Given the description of an element on the screen output the (x, y) to click on. 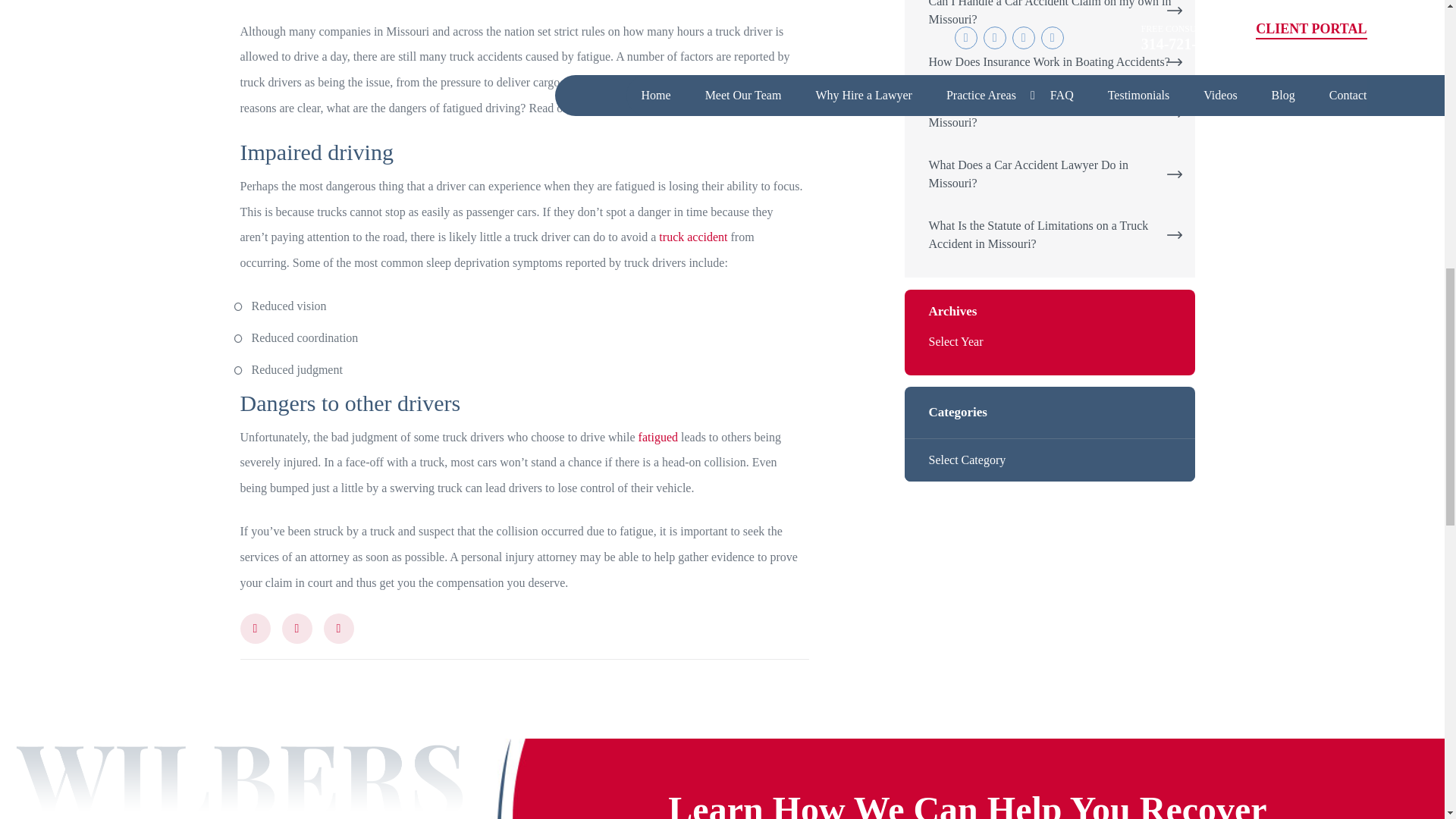
Can I Handle a Car Accident Claim on my own in Missouri? (1049, 14)
The Wilbers Law Firm LLC (307, 0)
truck accident (692, 236)
How Does Insurance Work in Boating Accidents? (1049, 62)
What Does a Car Accident Lawyer Do in Missouri? (1049, 174)
What Happens if Another Boat Hits You in Missouri? (1049, 113)
fatigued (658, 436)
